Given the description of an element on the screen output the (x, y) to click on. 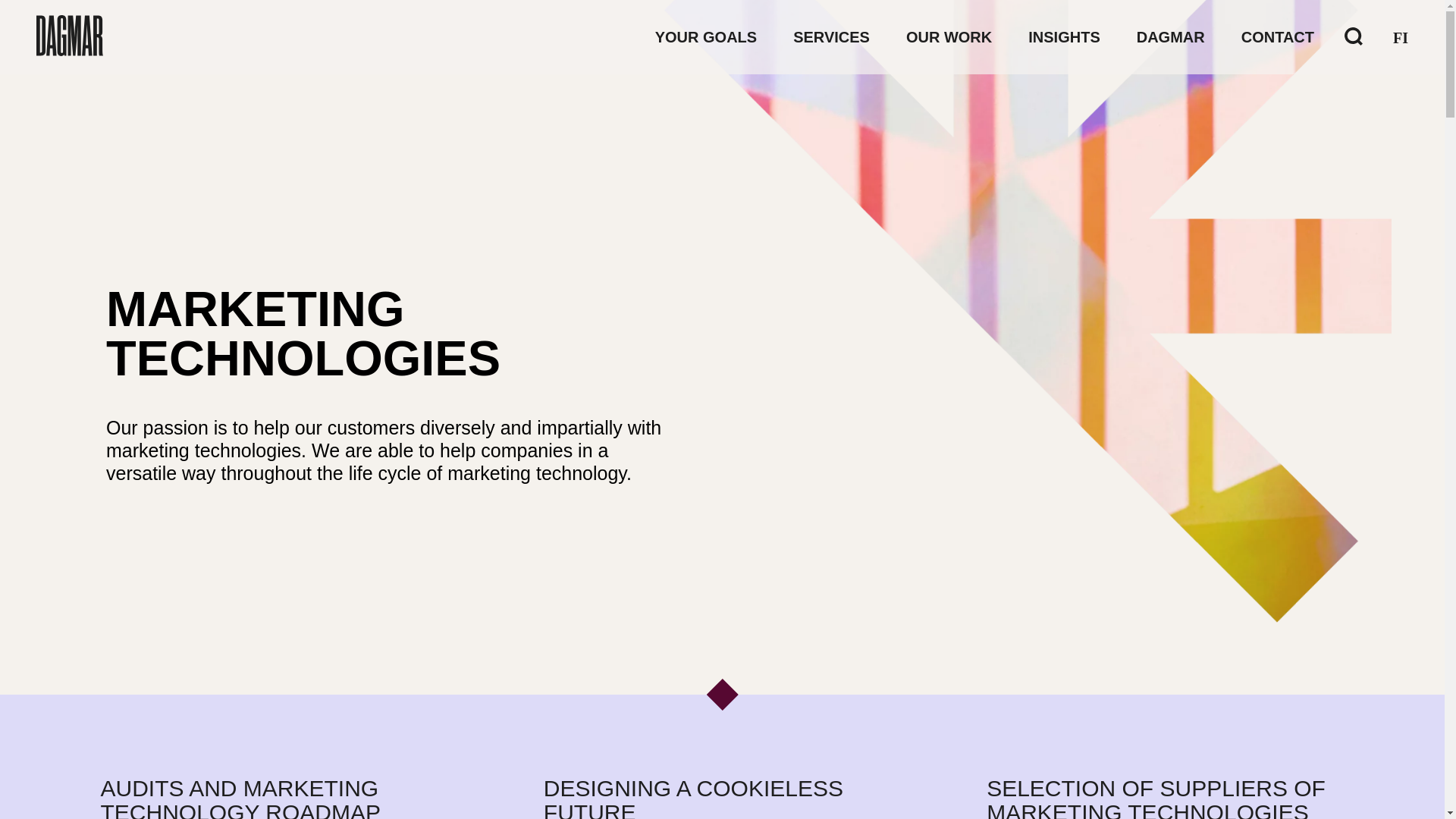
DAGMAR (1171, 36)
INSIGHTS (1063, 36)
SERVICES (831, 36)
YOUR GOALS (706, 36)
Suomi (1400, 37)
OUR WORK (948, 36)
